Given the description of an element on the screen output the (x, y) to click on. 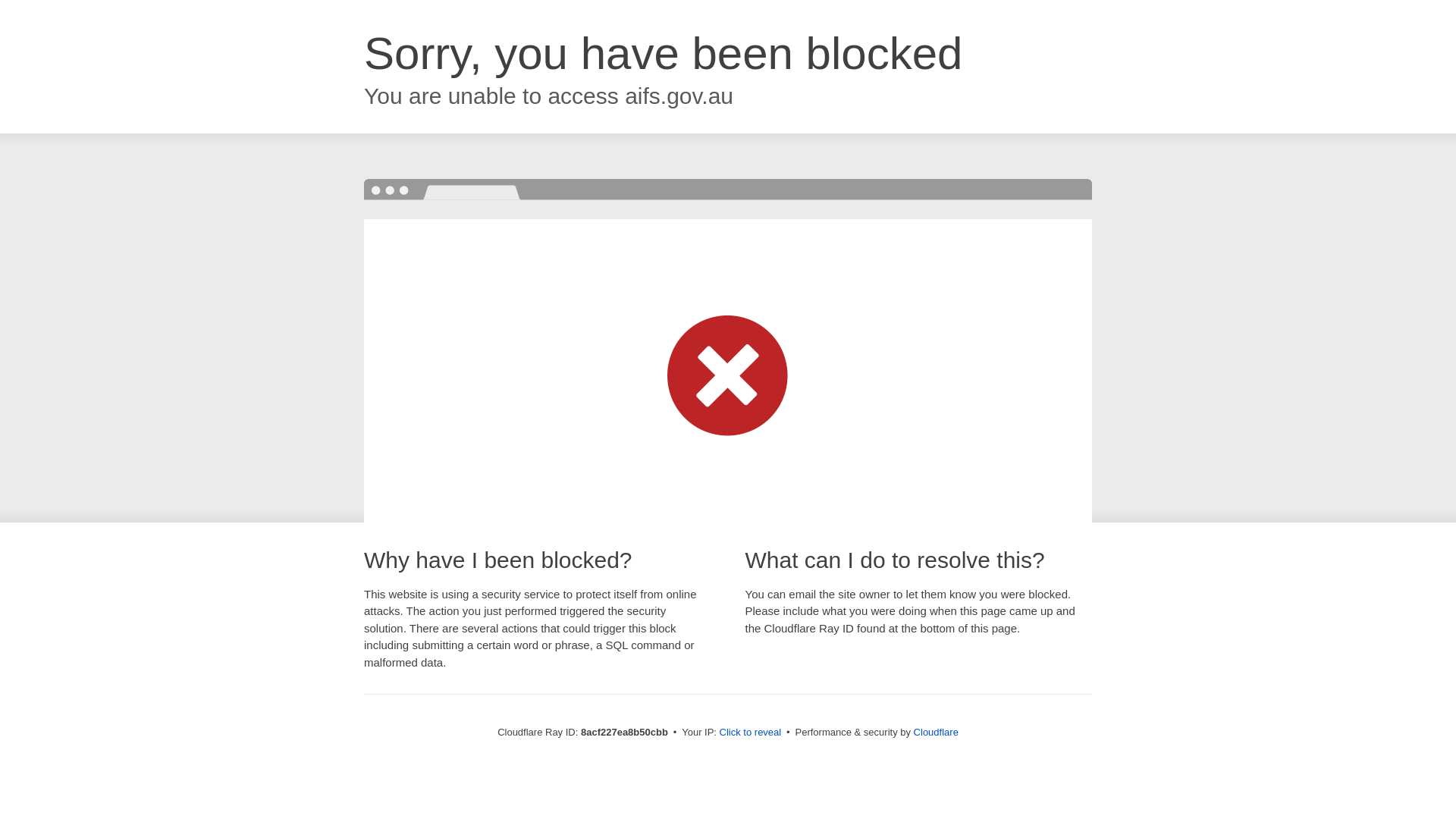
Cloudflare (936, 731)
Click to reveal (750, 732)
